Given the description of an element on the screen output the (x, y) to click on. 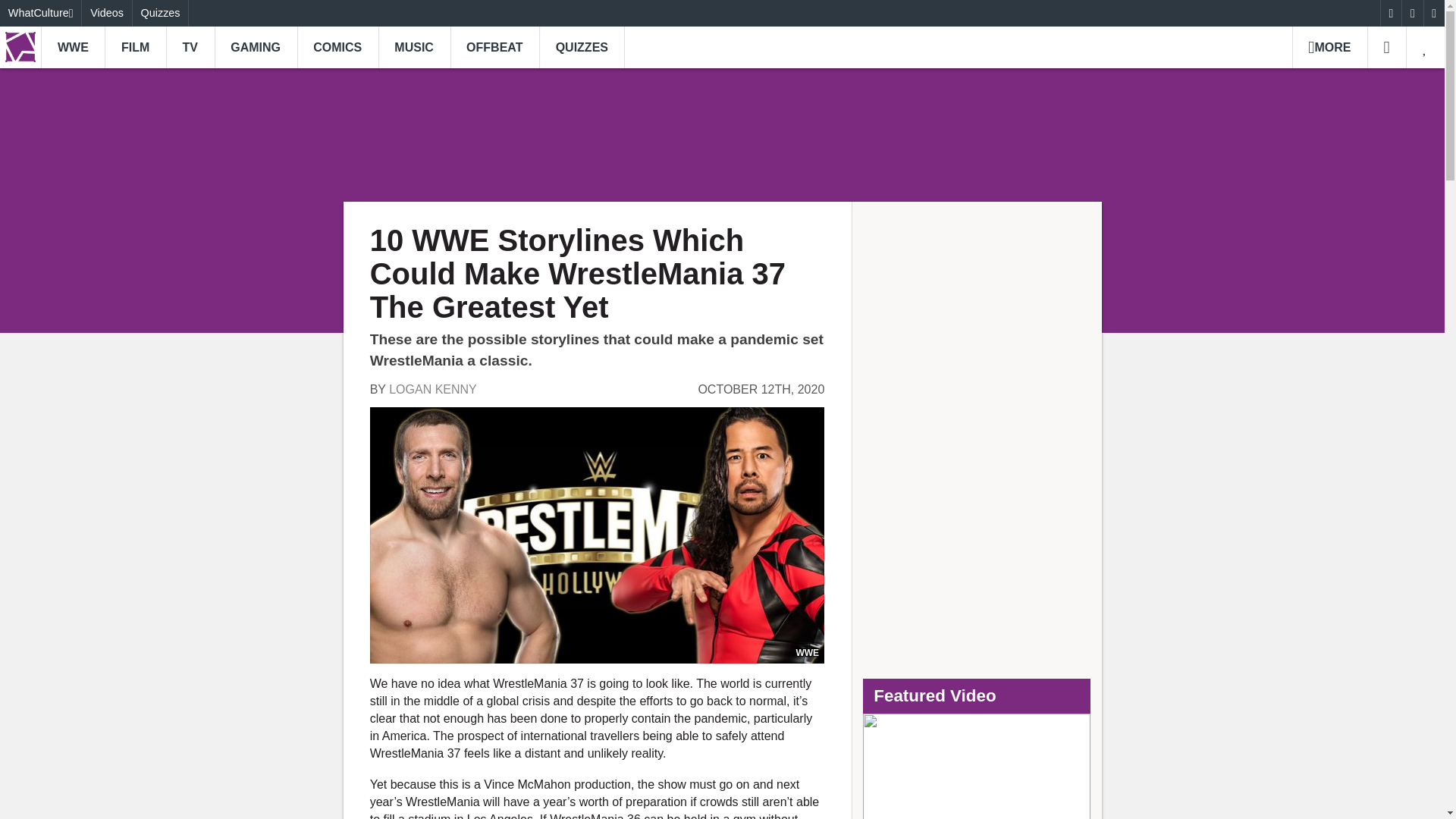
WWE (72, 46)
FILM (134, 46)
Featured Video (976, 766)
OFFBEAT (494, 46)
SEARCH (1386, 46)
Quizzes (160, 13)
Videos (106, 13)
COMICS (337, 46)
GAMING (255, 46)
QUIZZES (581, 46)
TV (189, 46)
MUSIC (413, 46)
MORE (1329, 46)
Search (1386, 46)
